Given the description of an element on the screen output the (x, y) to click on. 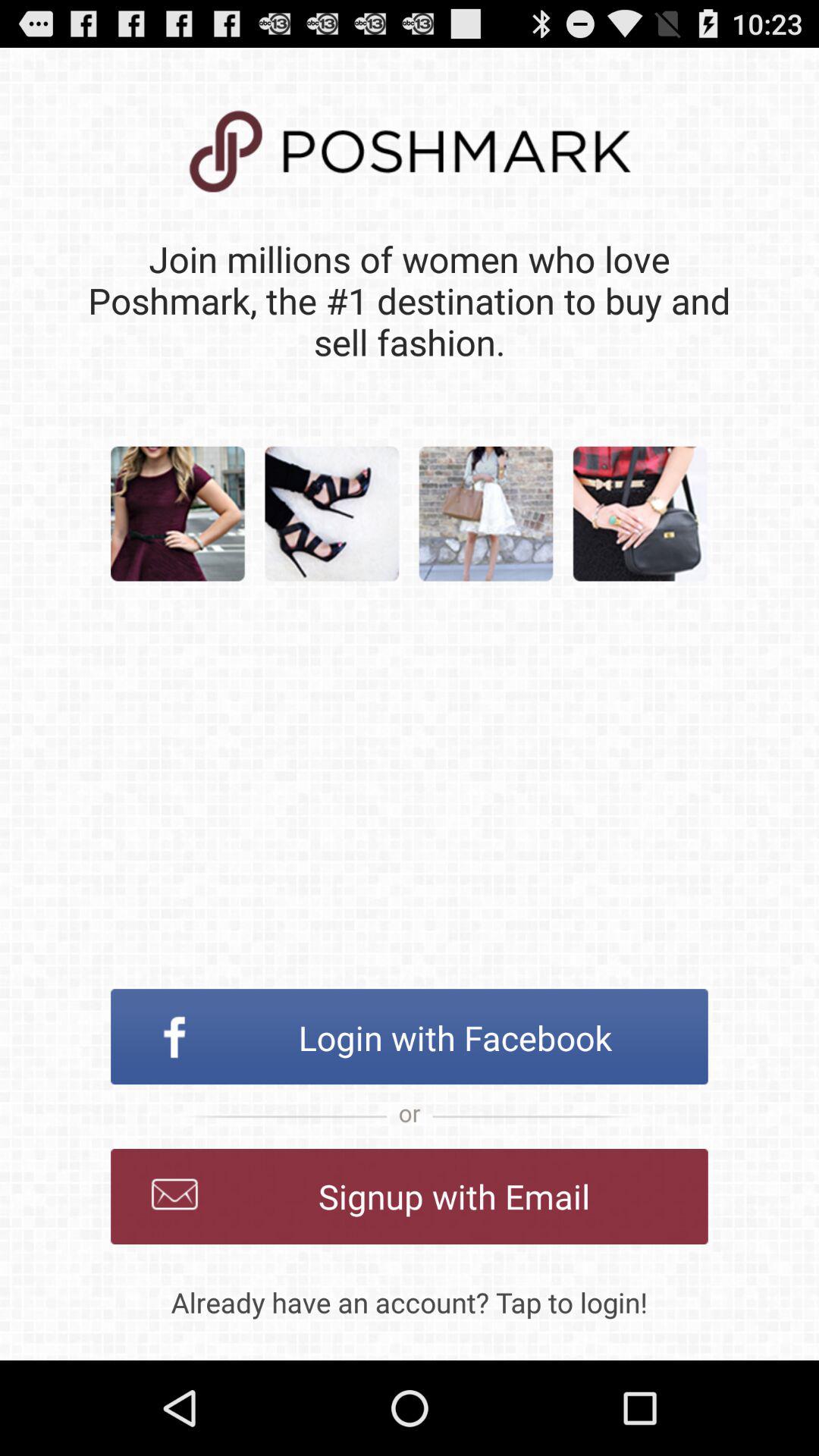
flip until login with facebook icon (409, 1036)
